Given the description of an element on the screen output the (x, y) to click on. 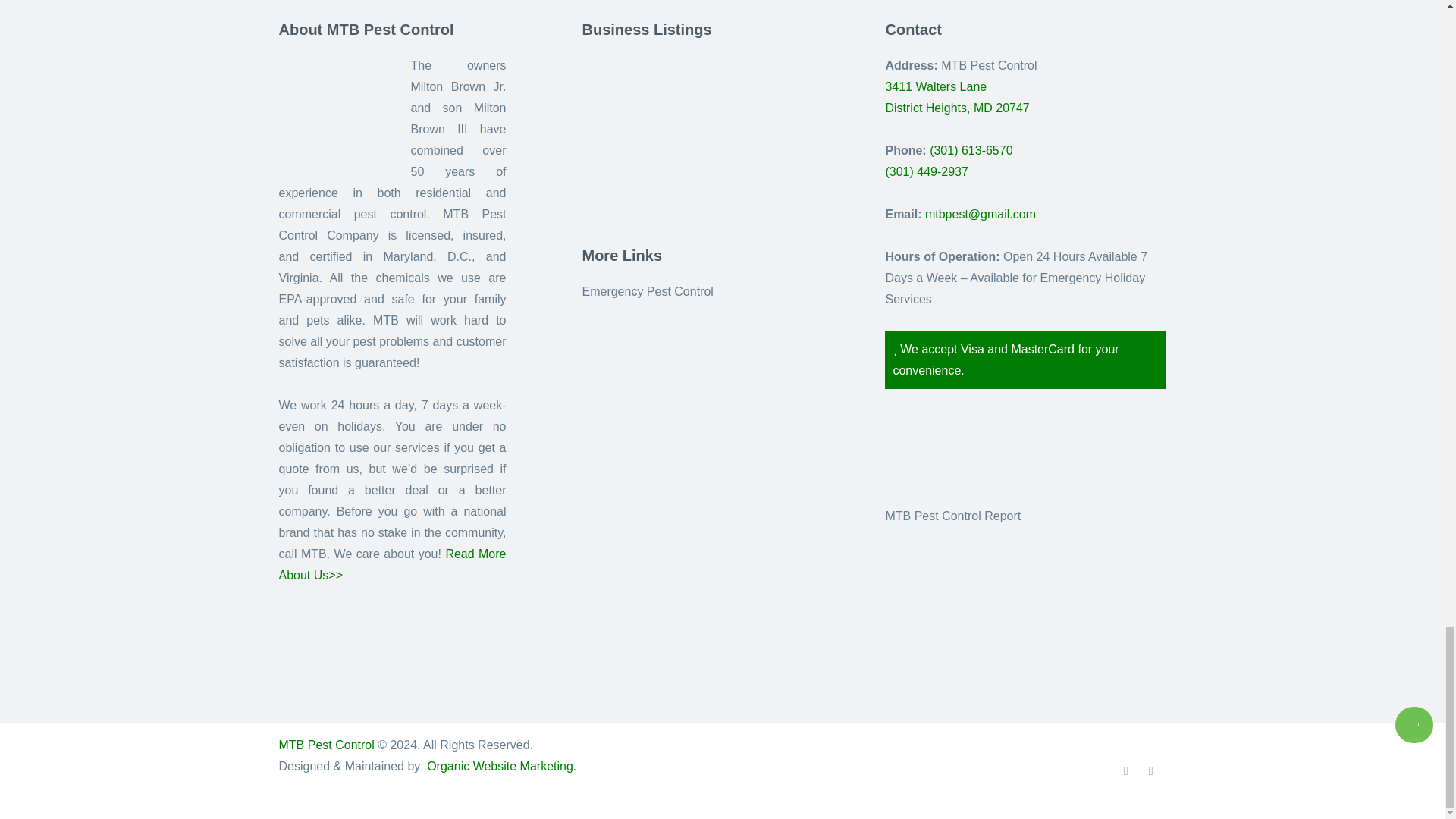
MTB Pest Control Report (952, 515)
Email (979, 214)
Organic Website Marketing. (501, 766)
MTB Pest Control (326, 744)
write google review (957, 97)
mtb pest control owners (632, 99)
Emergency Pest Control (336, 111)
npmpa trusted (646, 291)
write yelp review (960, 457)
LawnStarter (632, 184)
